Given the description of an element on the screen output the (x, y) to click on. 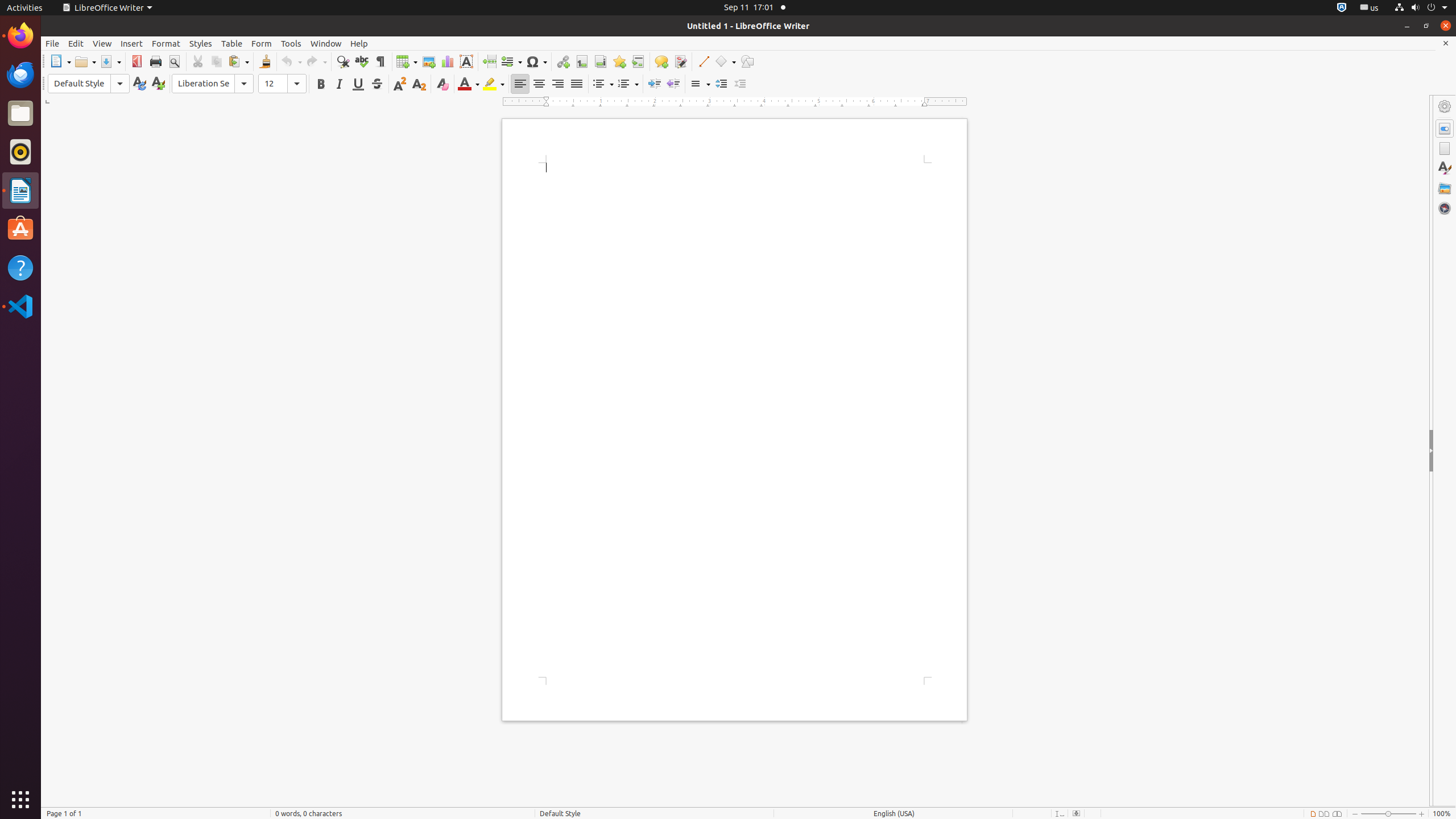
Justified Element type: toggle-button (576, 83)
Bookmark Element type: push-button (618, 61)
Image Element type: push-button (428, 61)
New Element type: push-button (157, 83)
Font Color Element type: push-button (468, 83)
